Given the description of an element on the screen output the (x, y) to click on. 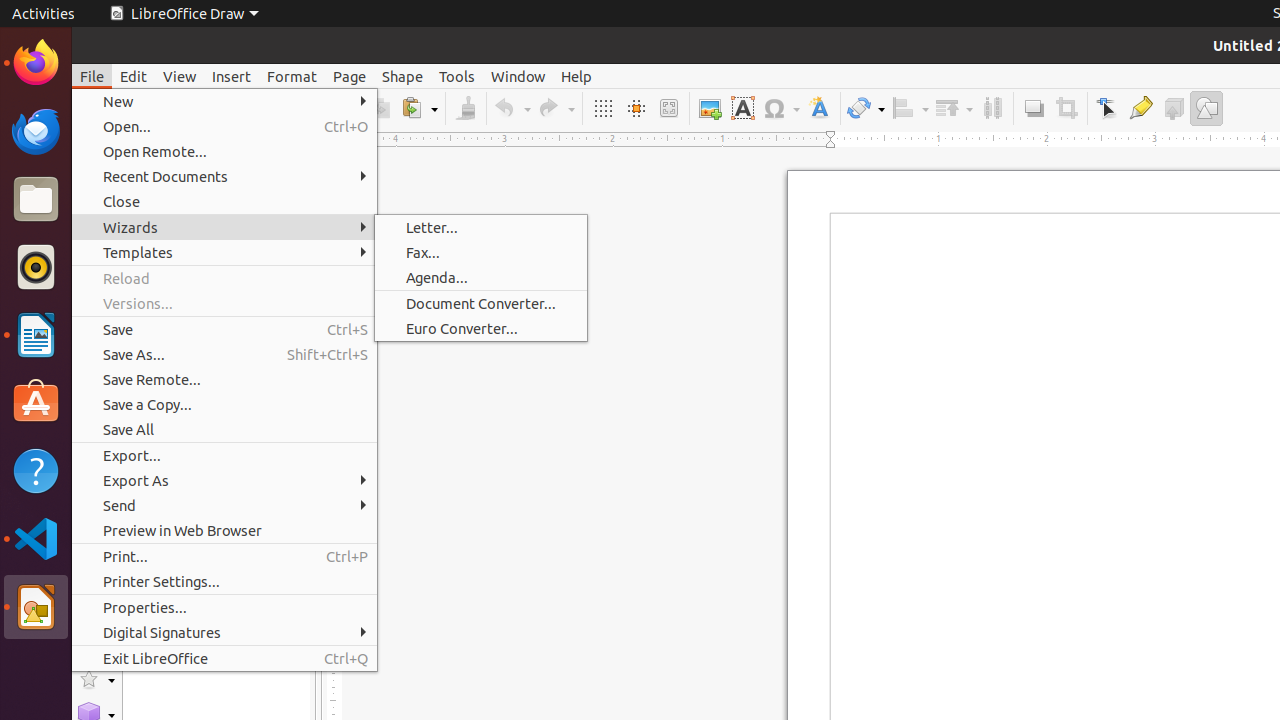
Window Element type: menu (518, 76)
Clone Element type: push-button (465, 108)
Save Element type: menu-item (224, 329)
Distribution Element type: push-button (992, 108)
Shadow Element type: toggle-button (1033, 108)
